Given the description of an element on the screen output the (x, y) to click on. 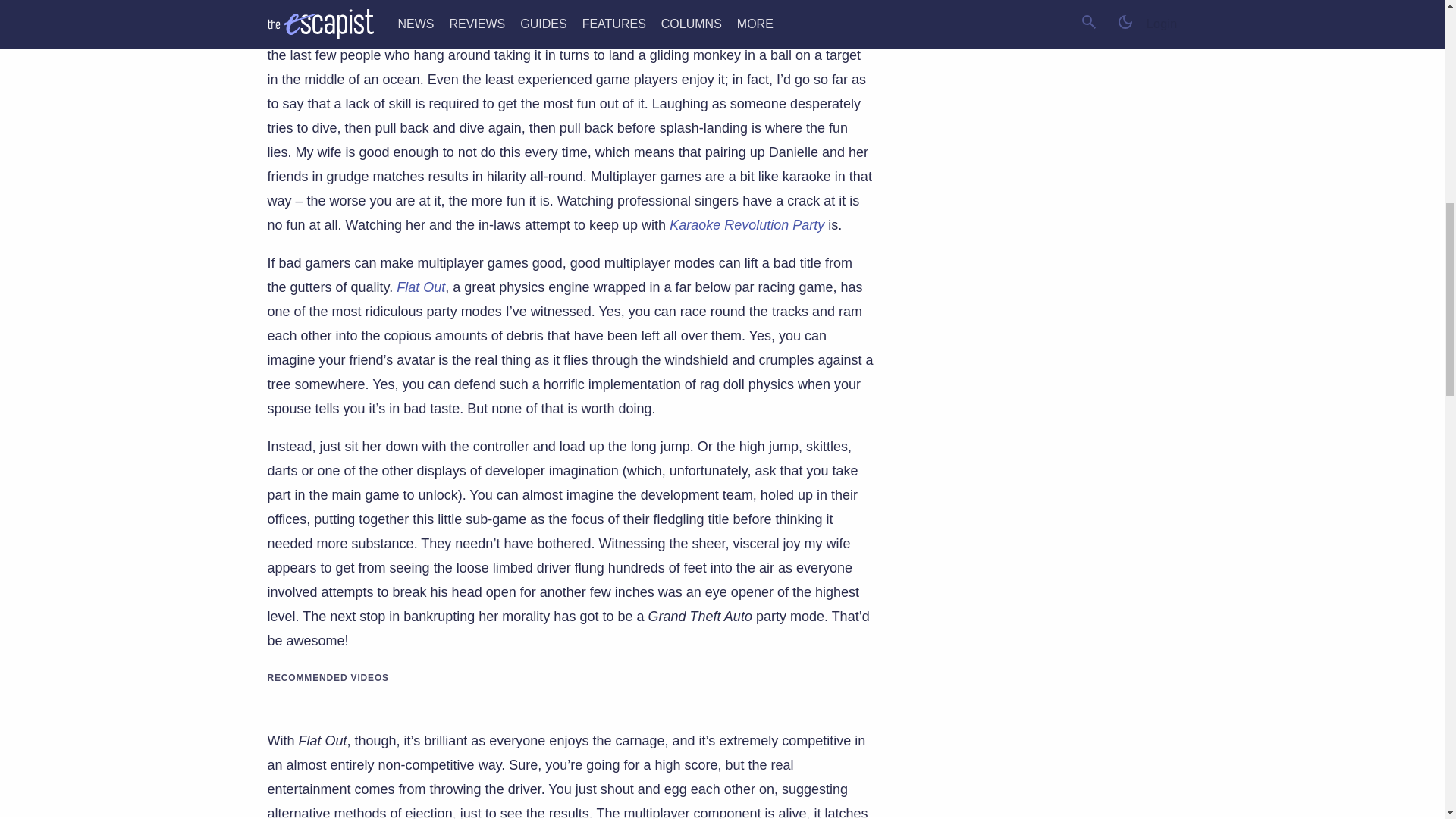
Flat Out (420, 287)
Super Monkey Ball (323, 30)
Karaoke Revolution Party (746, 224)
